Given the description of an element on the screen output the (x, y) to click on. 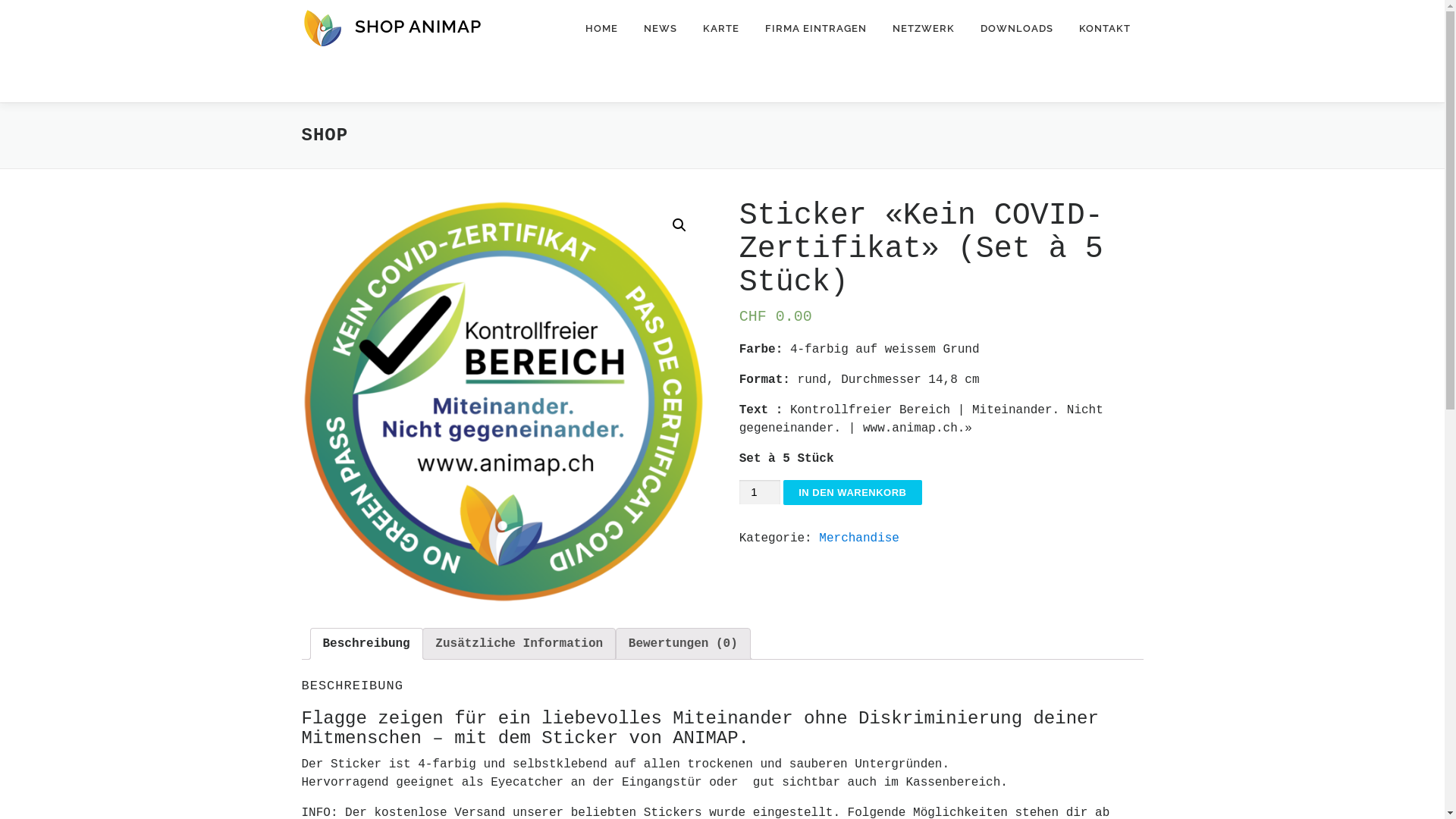
Sticker Kein COVID-Zertifikat Element type: hover (503, 401)
KARTE Element type: text (721, 28)
HOME Element type: text (600, 28)
Menge Element type: hover (759, 492)
Beschreibung Element type: text (366, 643)
SHOP ANIMAP Element type: text (417, 25)
Merchandise Element type: text (859, 538)
KONTAKT Element type: text (1104, 28)
NETZWERK Element type: text (923, 28)
NEWS Element type: text (660, 28)
Bewertungen (0) Element type: text (682, 643)
FIRMA EINTRAGEN Element type: text (815, 28)
DOWNLOADS Element type: text (1016, 28)
IN DEN WARENKORB Element type: text (852, 492)
